Given the description of an element on the screen output the (x, y) to click on. 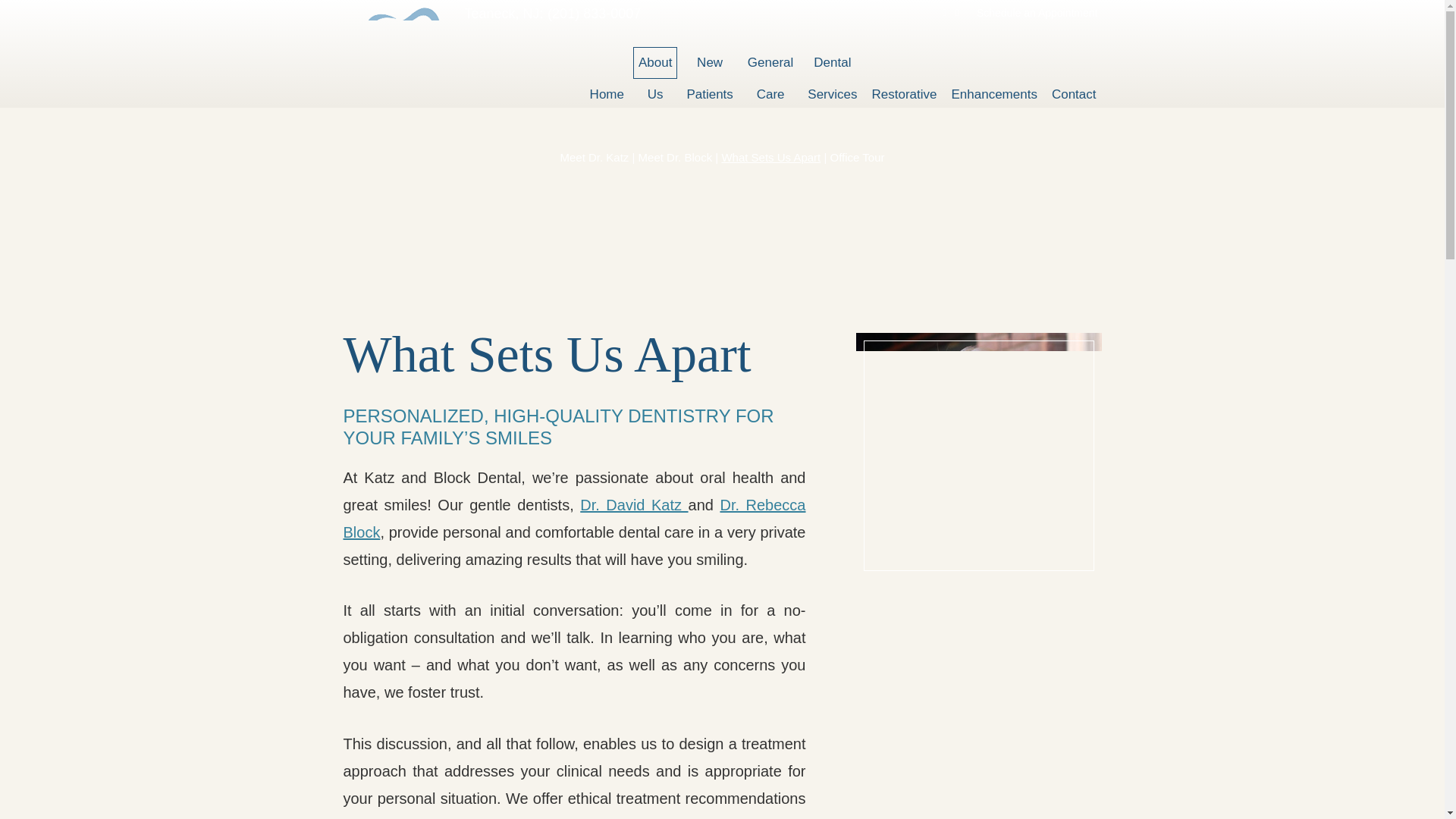
Restorative (655, 62)
Home (769, 62)
Enhancements (904, 94)
